Given the description of an element on the screen output the (x, y) to click on. 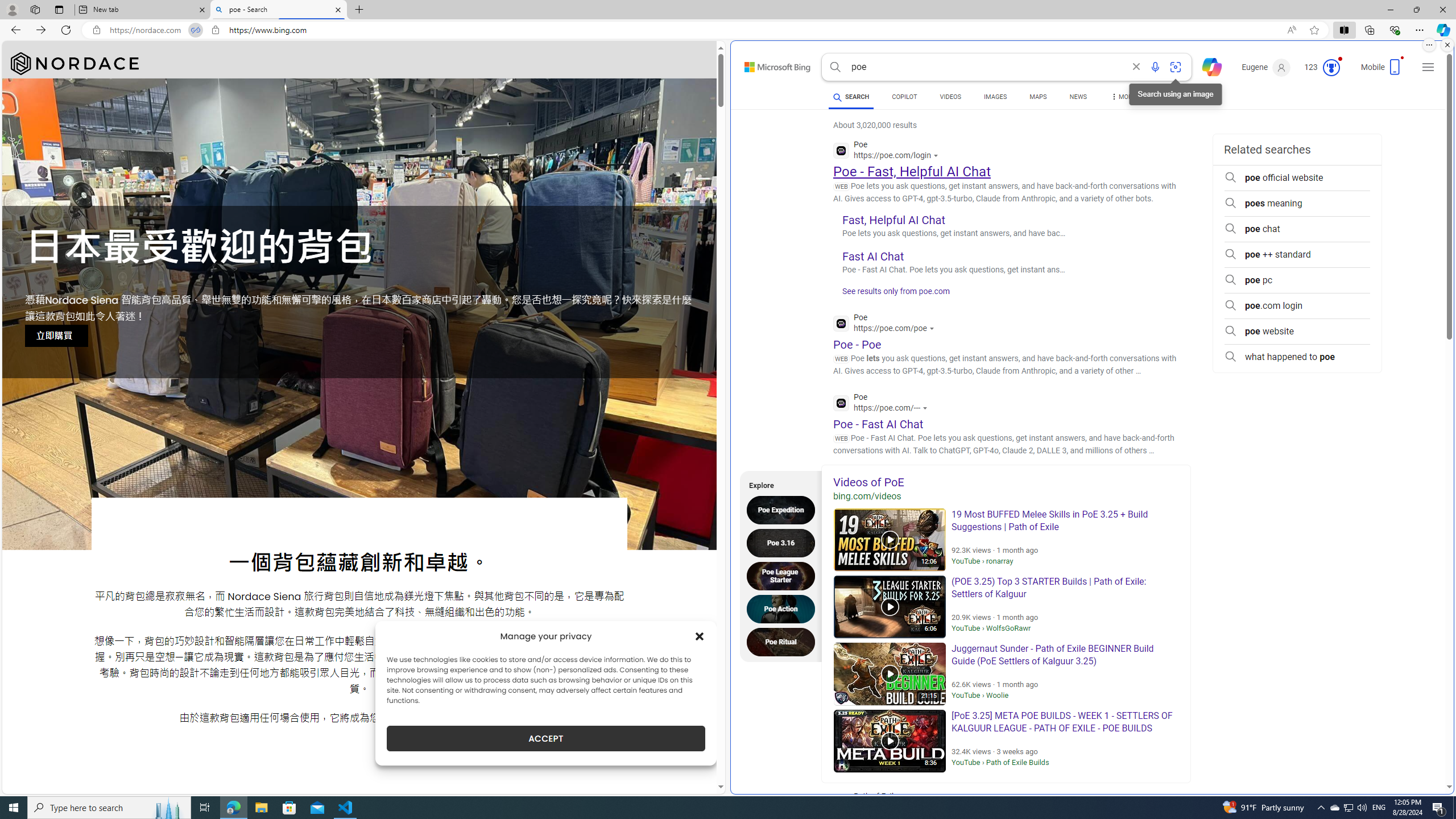
Poe Expedition (783, 509)
Fast, Helpful AI Chat (893, 219)
Forward (40, 29)
SEARCH (850, 96)
poe ++ standard (1297, 254)
Class: cmplz-close (699, 636)
what happened to poe (1297, 356)
Search more (1423, 753)
Poe Ritual (783, 641)
COPILOT (903, 98)
